Given the description of an element on the screen output the (x, y) to click on. 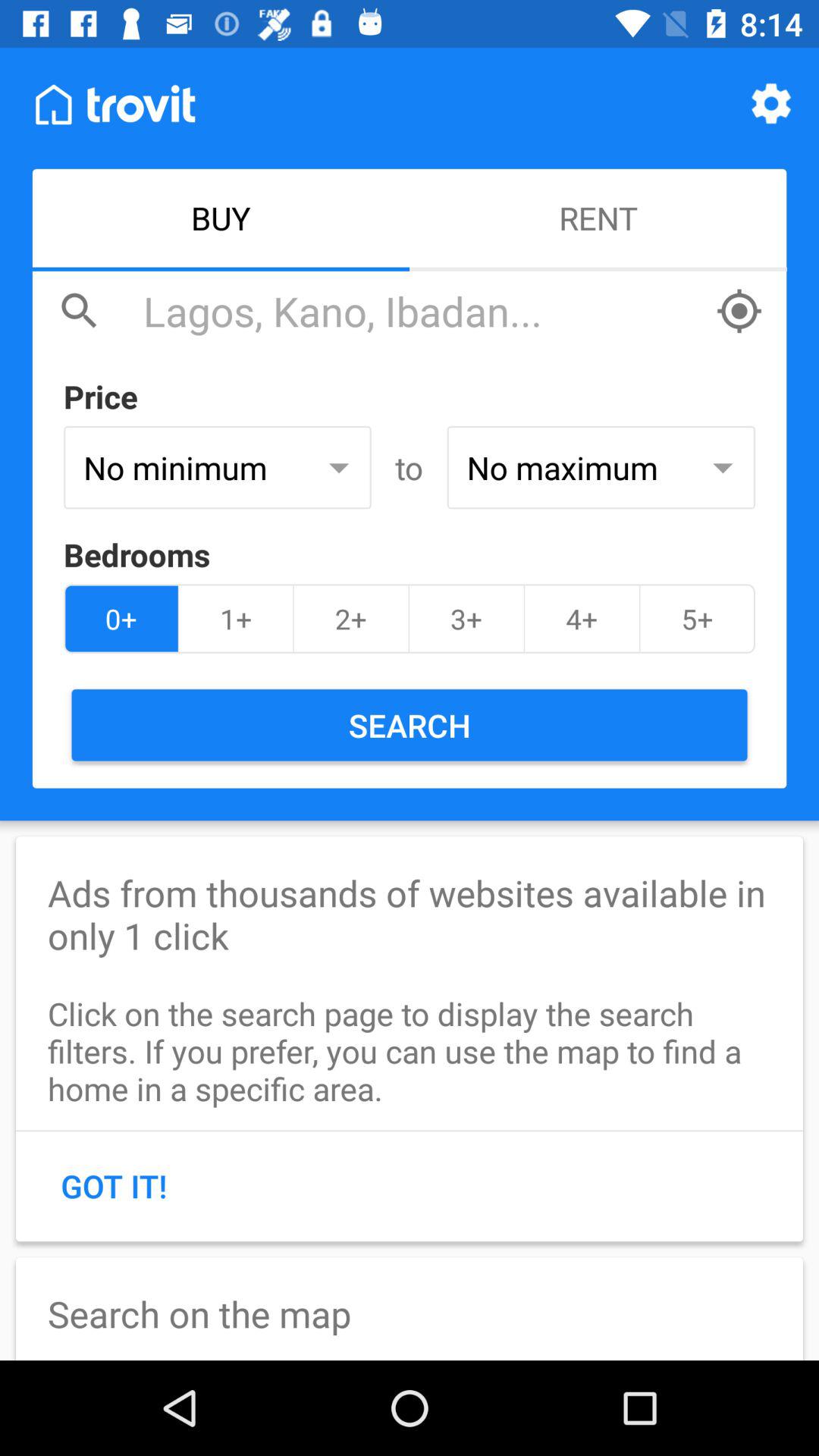
choose icon above the search item (697, 618)
